Given the description of an element on the screen output the (x, y) to click on. 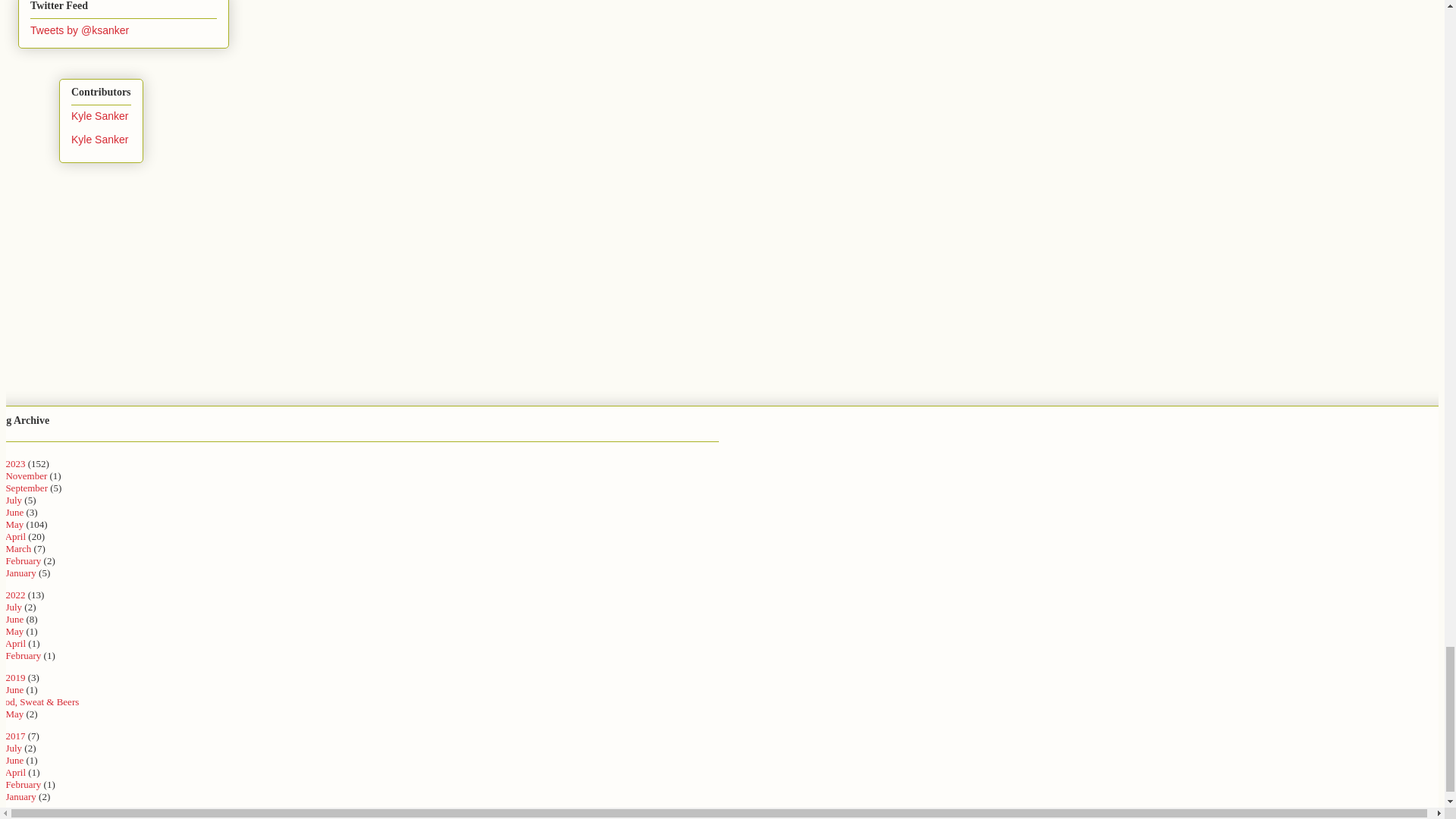
Kyle Sanker (99, 115)
